Given the description of an element on the screen output the (x, y) to click on. 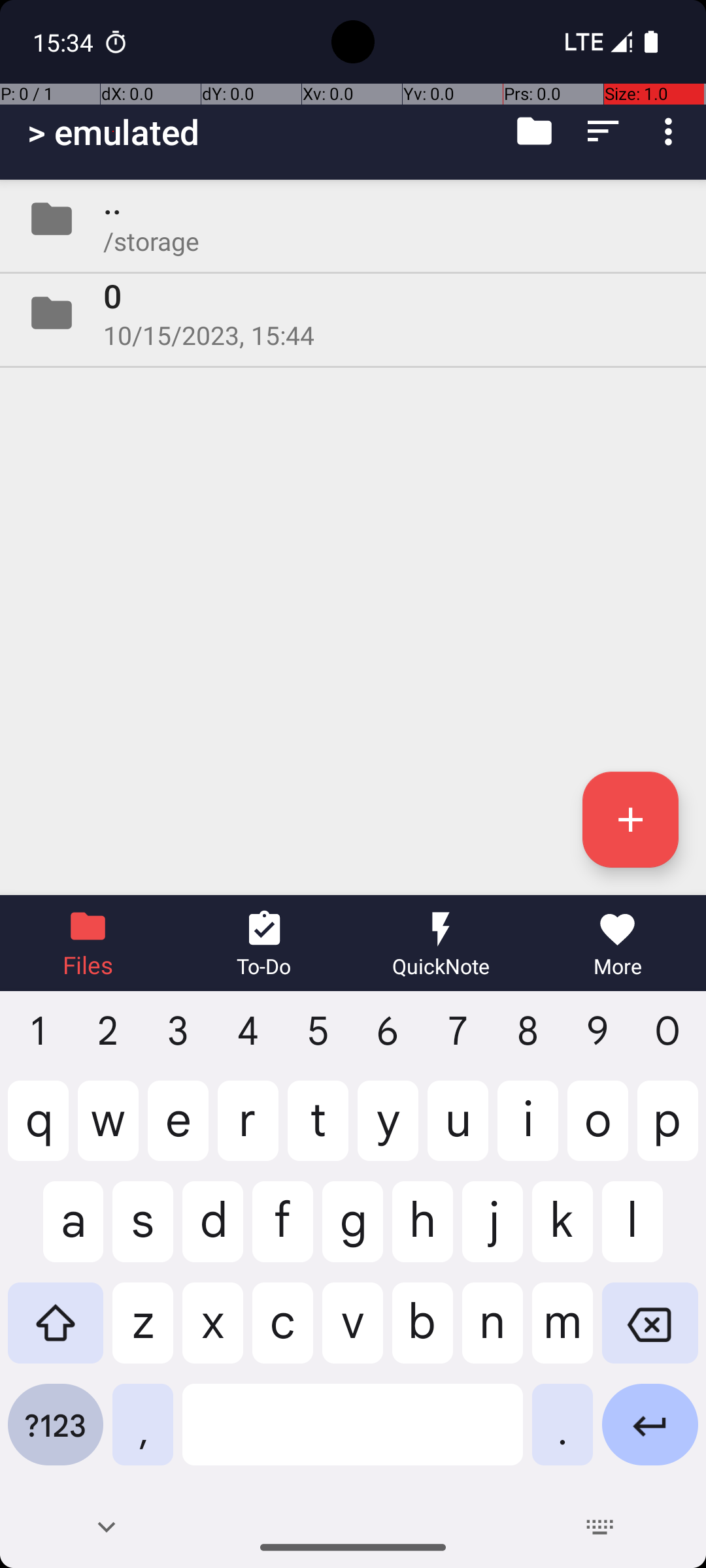
> emulated Element type: android.widget.TextView (113, 131)
Folder .. 10/15/2023, 15:34 Element type: android.widget.LinearLayout (353, 218)
Folder 0 10/15/2023, 15:34 Element type: android.widget.LinearLayout (353, 312)
